Given the description of an element on the screen output the (x, y) to click on. 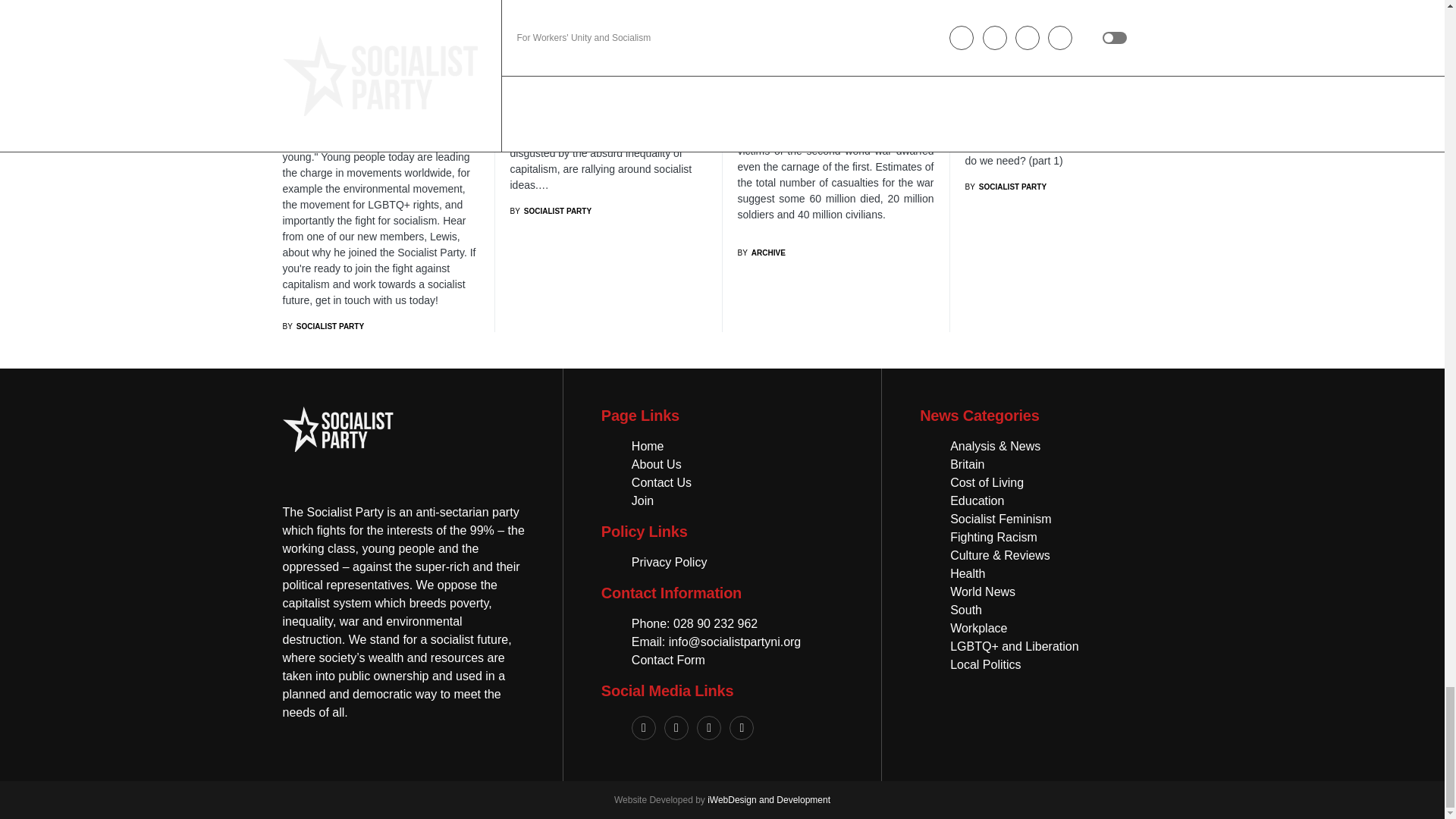
View all posts by Archive (760, 252)
View all posts by Socialist Party (1004, 186)
View all posts by Socialist Party (323, 326)
View all posts by Socialist Party (550, 211)
